Given the description of an element on the screen output the (x, y) to click on. 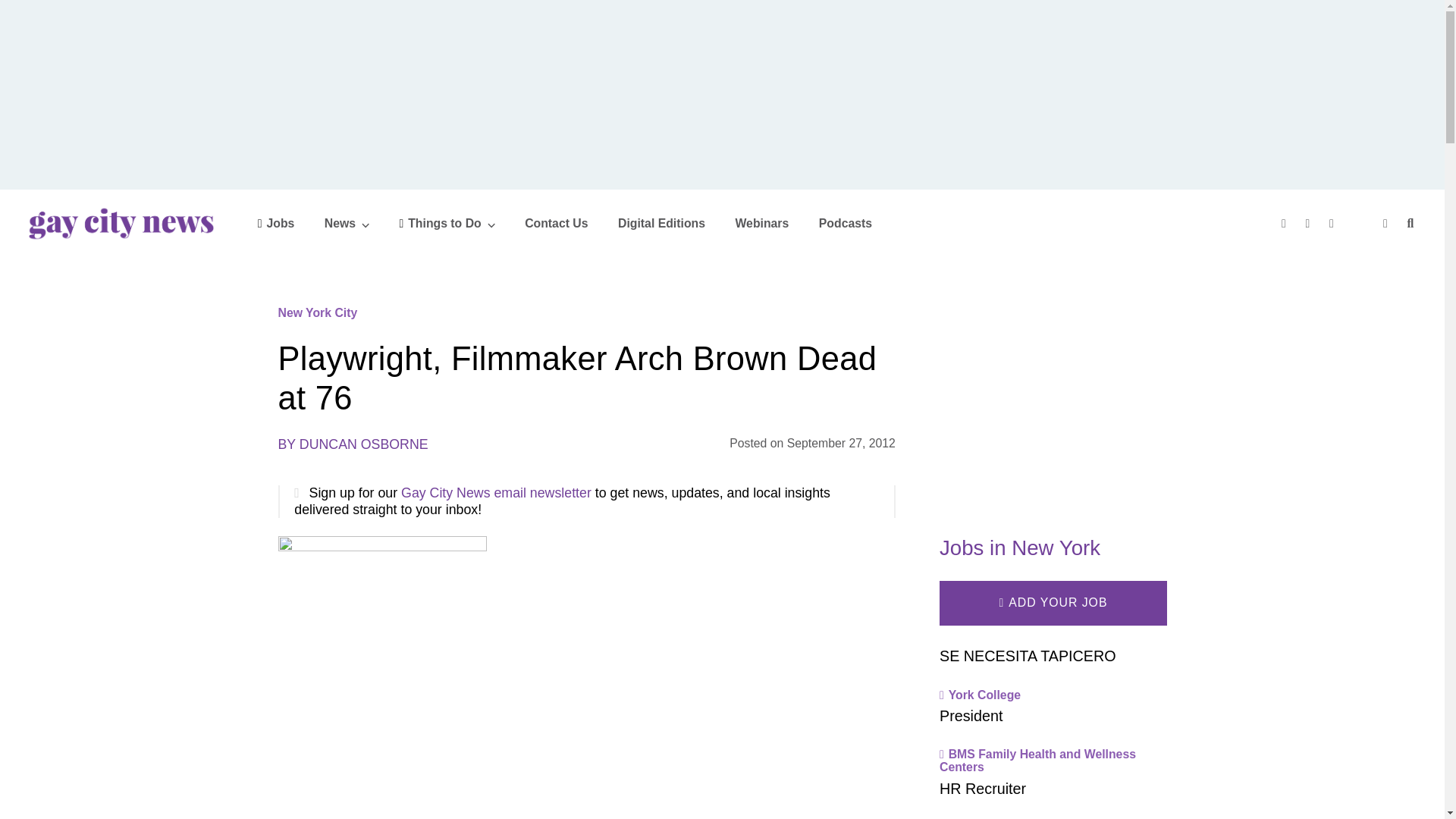
Podcasts (845, 223)
News (346, 223)
Things to Do (446, 223)
Contact Us (556, 223)
Jobs (276, 223)
Digital Editions (660, 223)
Webinars (762, 223)
